Given the description of an element on the screen output the (x, y) to click on. 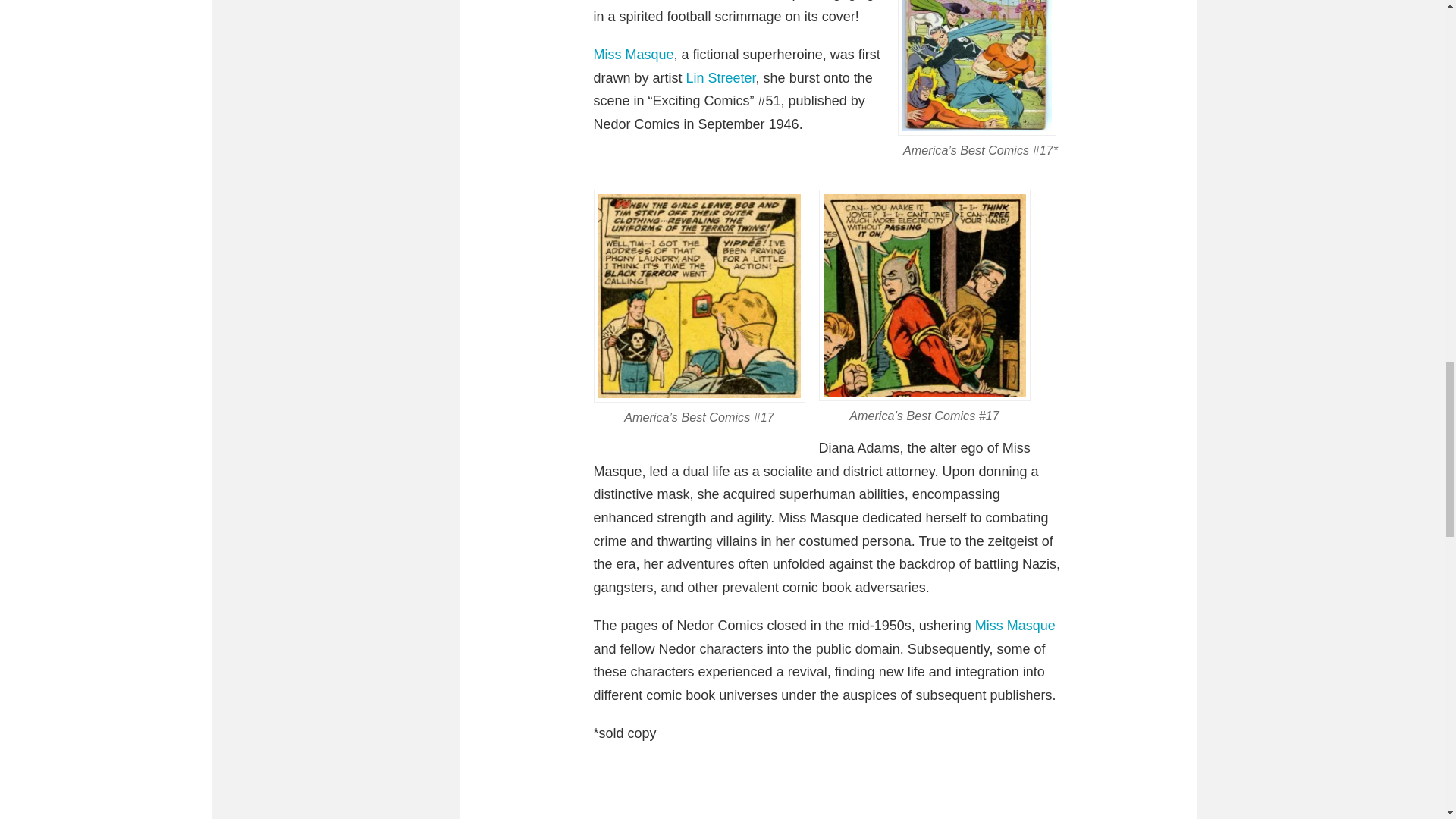
Miss Masque (632, 54)
Miss Masque (1015, 625)
Lin Streeter (720, 77)
Click to read (977, 68)
